Given the description of an element on the screen output the (x, y) to click on. 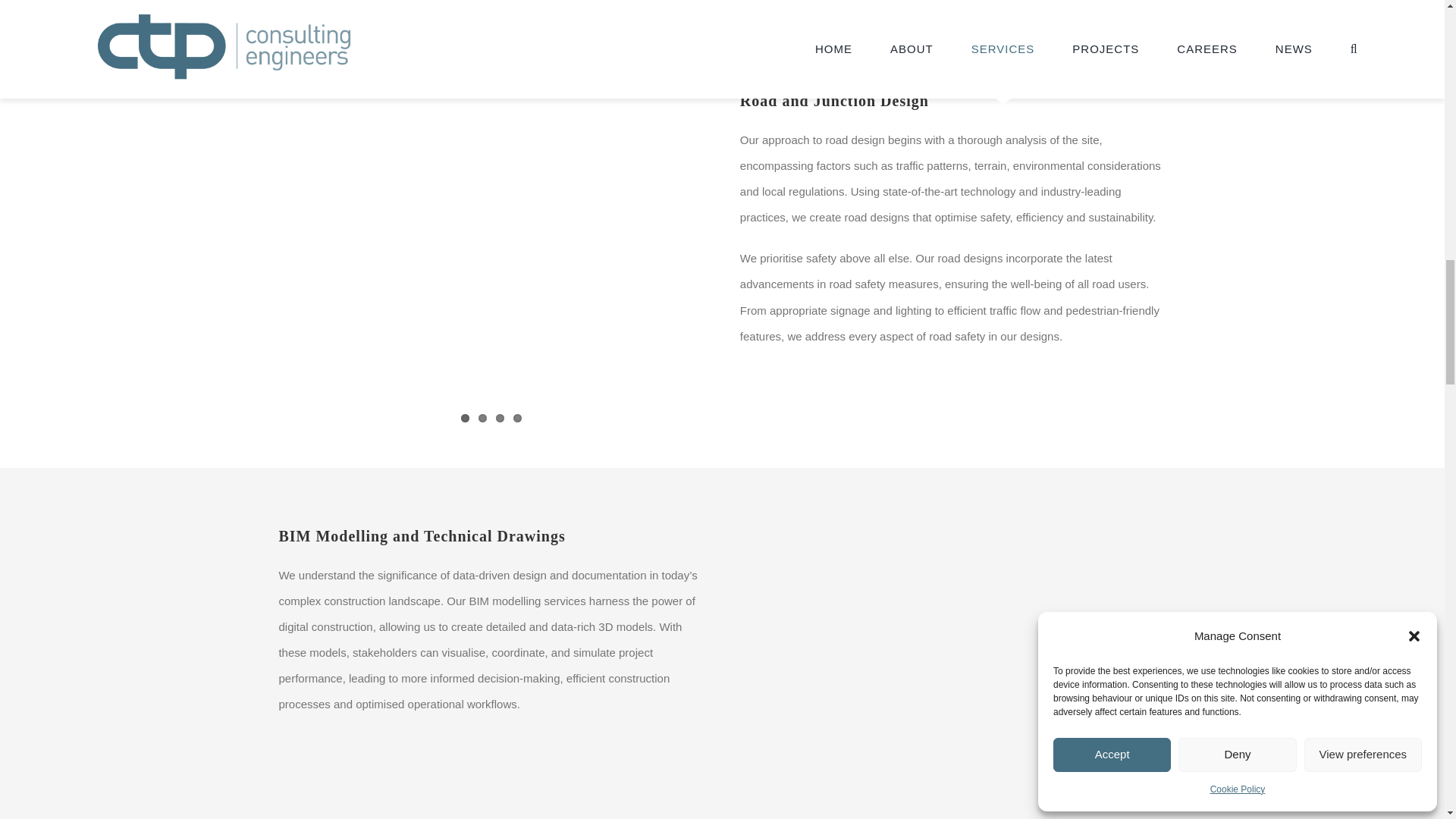
2 (482, 418)
1 (464, 418)
3 (499, 418)
